Given the description of an element on the screen output the (x, y) to click on. 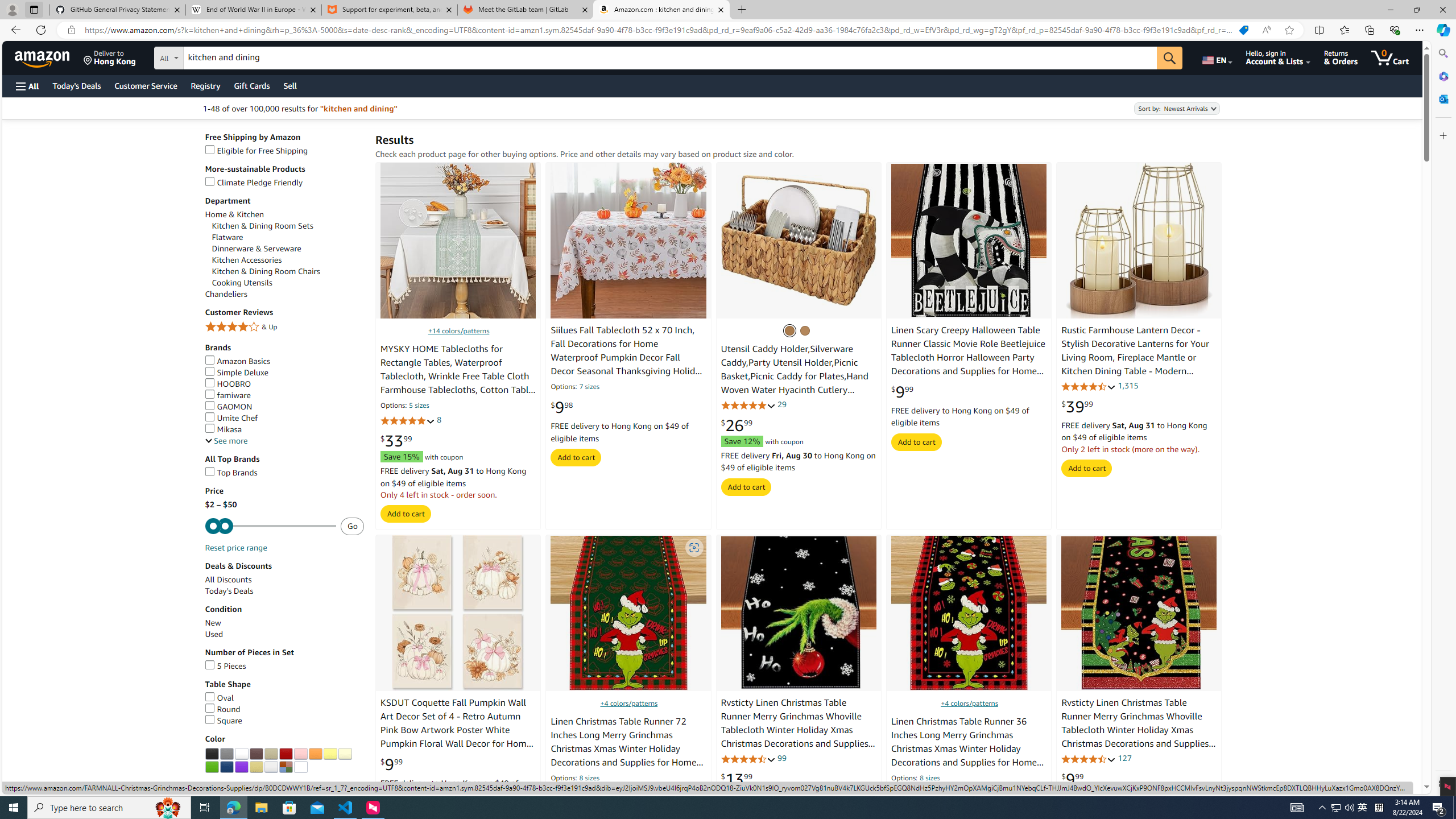
Oval (284, 697)
